Given the description of an element on the screen output the (x, y) to click on. 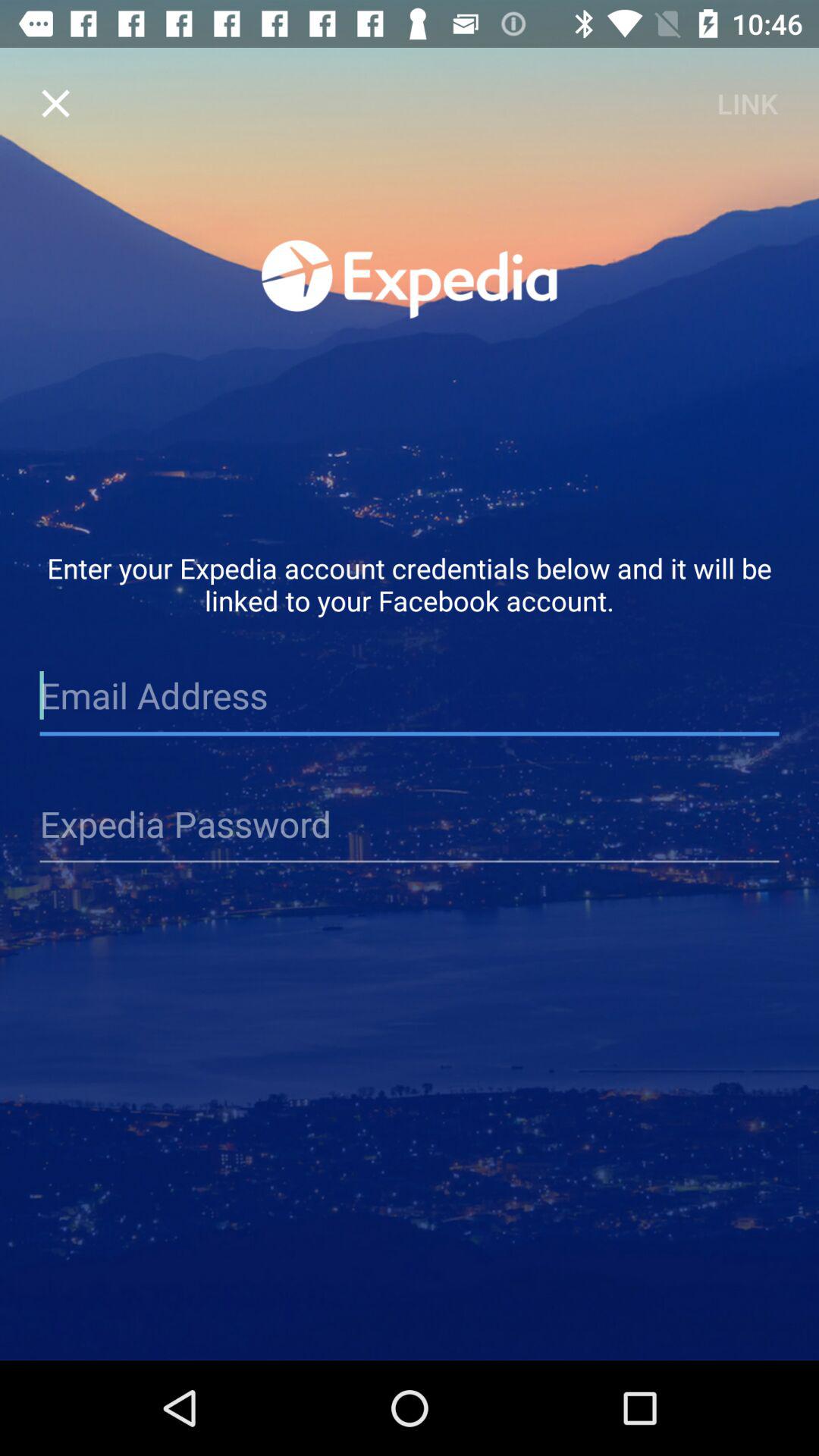
flip to link icon (747, 103)
